Given the description of an element on the screen output the (x, y) to click on. 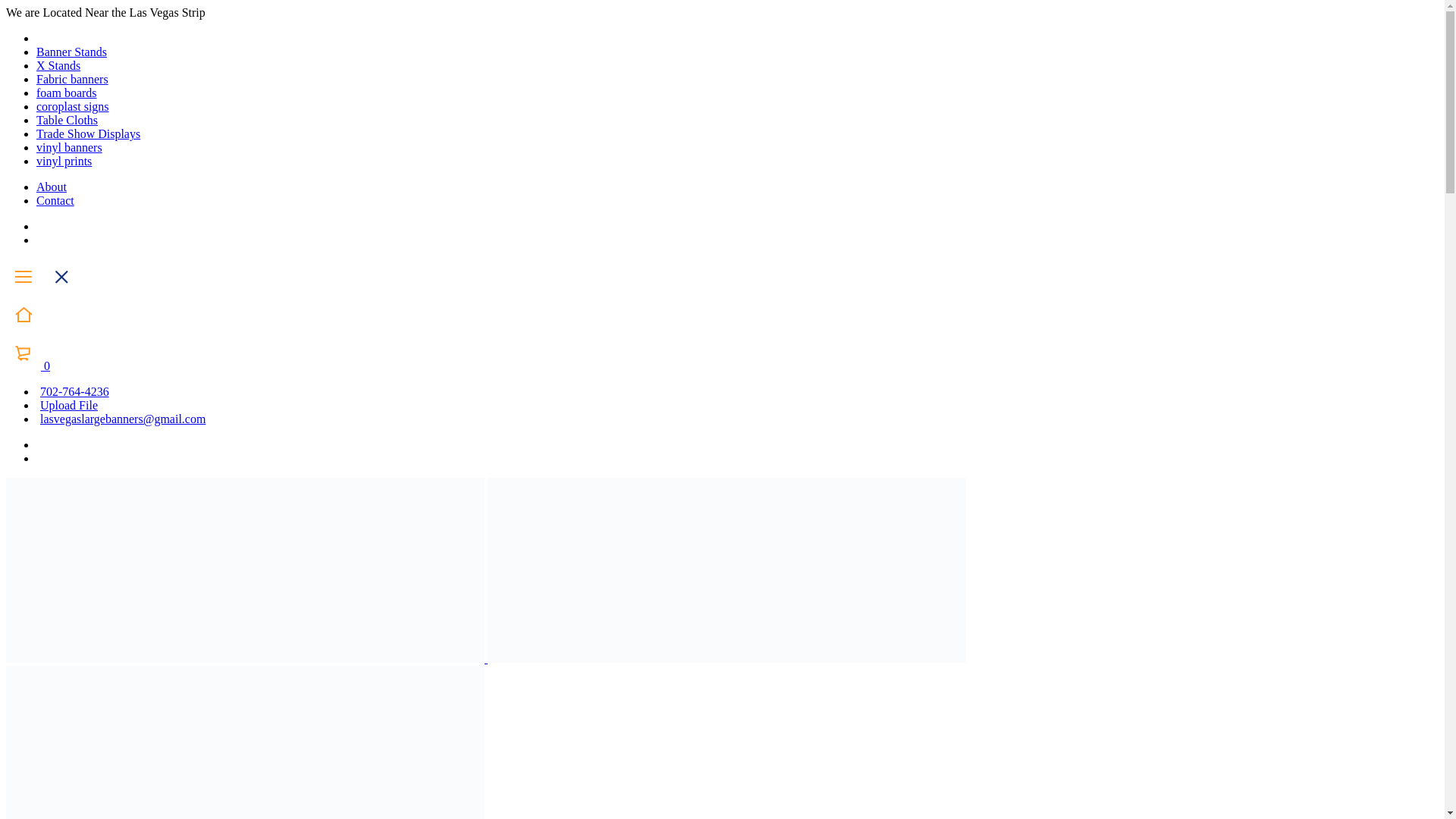
Banner Stands (71, 51)
0 (27, 365)
vinyl banners (68, 146)
Upload File (66, 404)
X Stands (58, 65)
Table Cloths (66, 119)
Contact (55, 200)
Fabric banners (71, 78)
foam boards (66, 92)
702-764-4236 (72, 391)
coroplast signs (72, 106)
Trade Show Displays (87, 133)
Las Vegas Large Banners (244, 742)
Las Vegas Large Banners (244, 569)
About (51, 186)
